Given the description of an element on the screen output the (x, y) to click on. 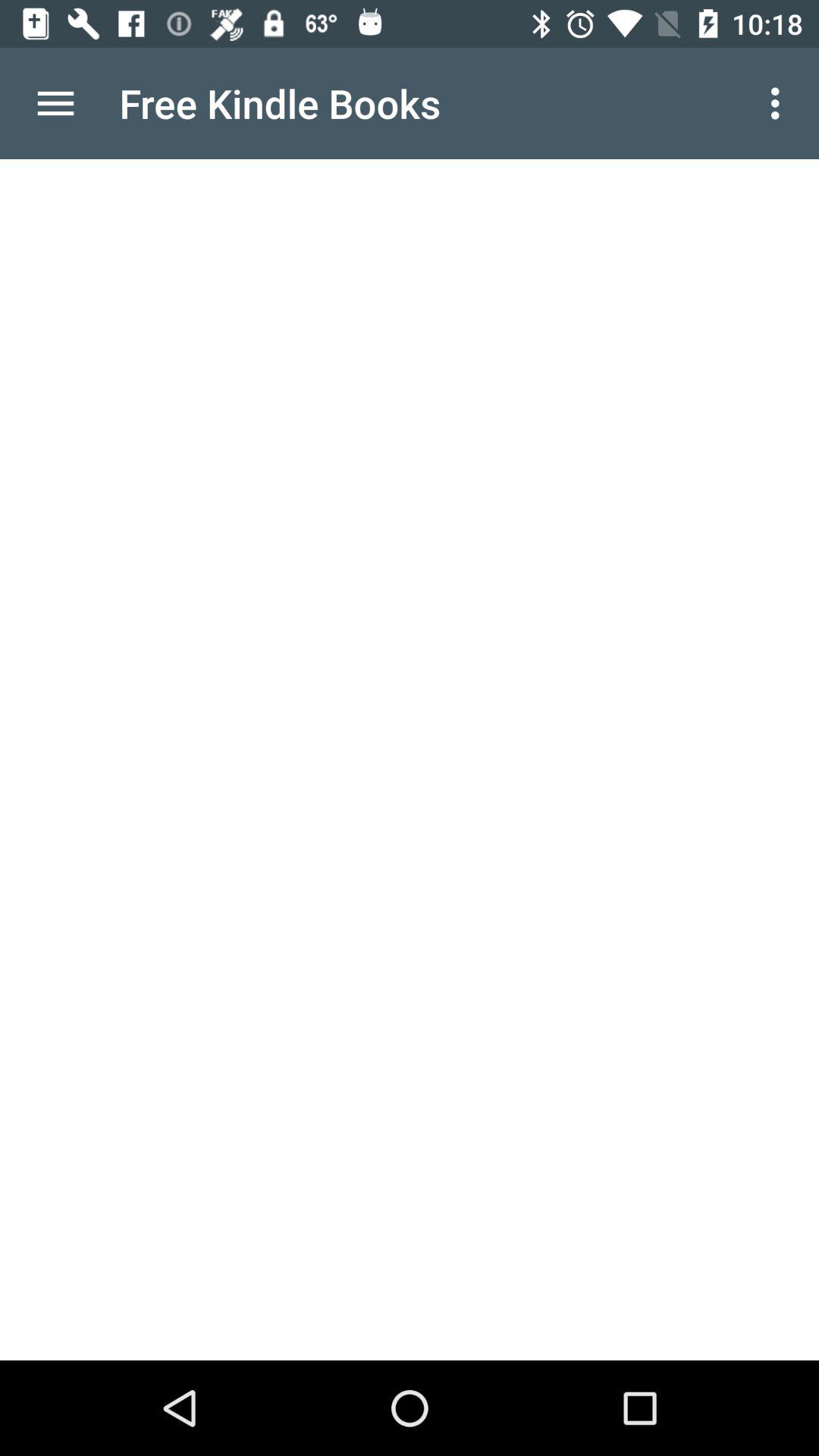
tap item to the left of free kindle books (55, 103)
